Given the description of an element on the screen output the (x, y) to click on. 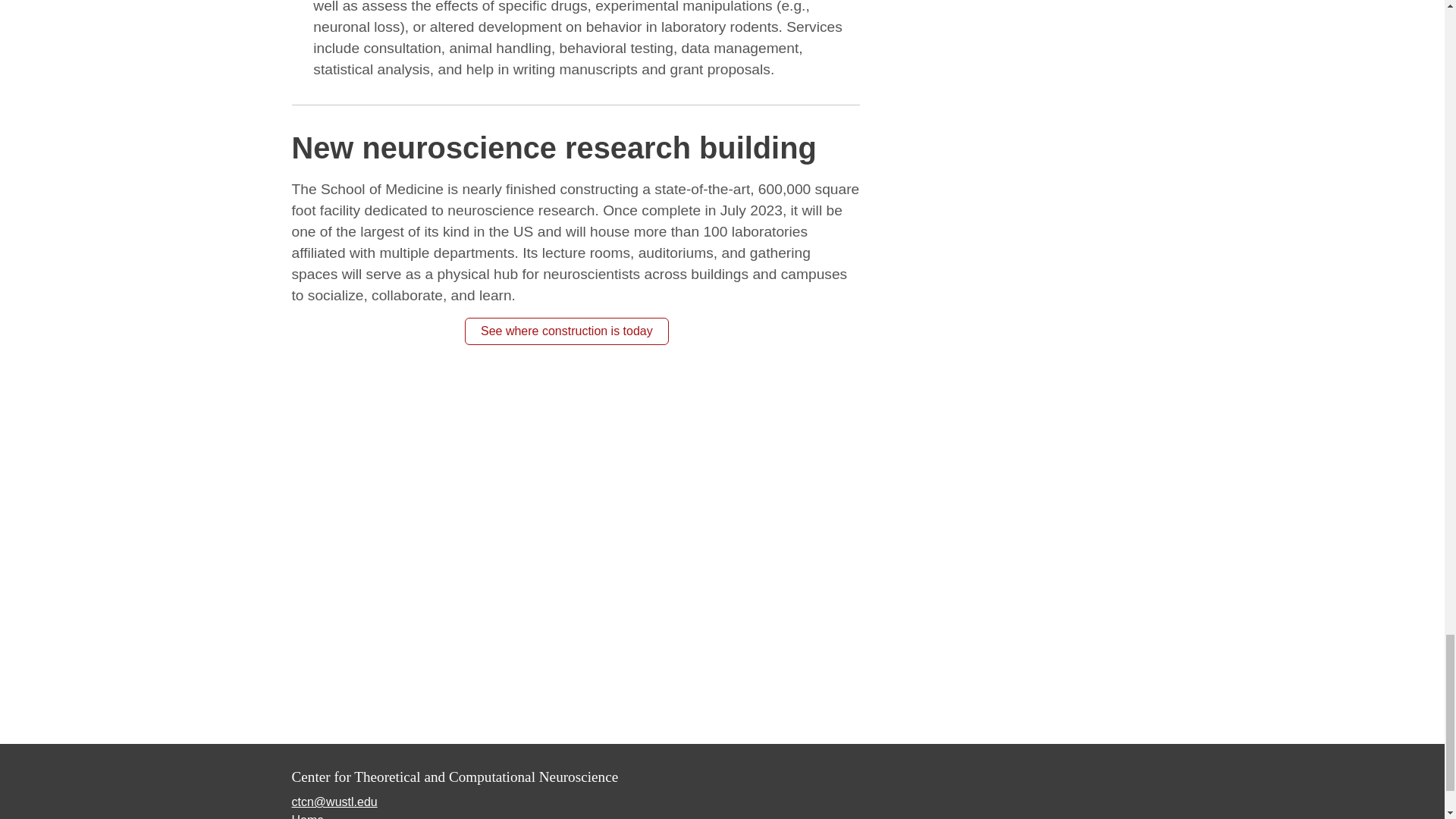
See where construction is today (566, 330)
Home (307, 816)
